Given the description of an element on the screen output the (x, y) to click on. 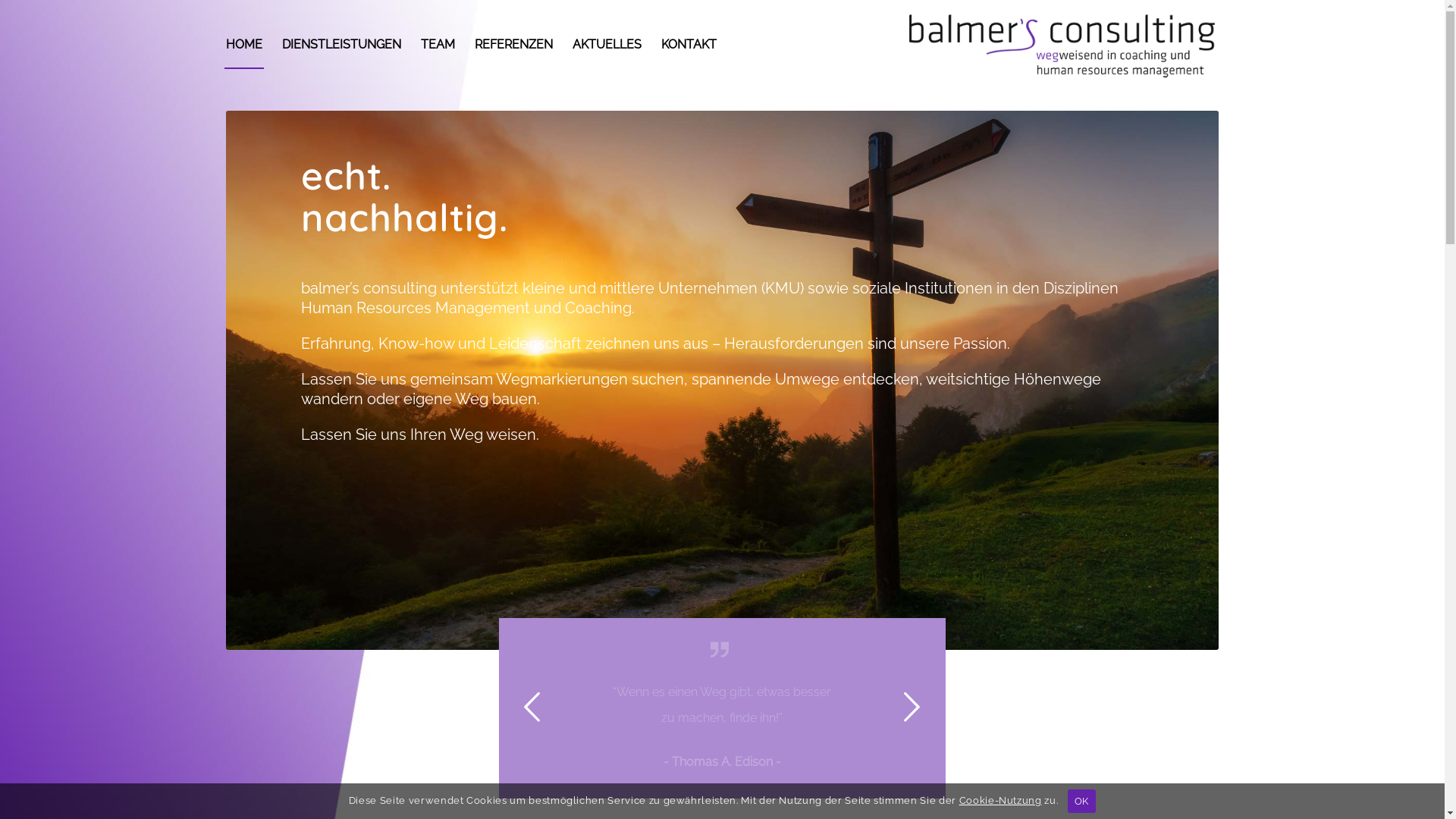
Weiter Element type: text (911, 706)
REFERENZEN Element type: text (513, 44)
Cookie-Nutzung Element type: text (1000, 800)
AKTUELLES Element type: text (606, 44)
KONTAKT Element type: text (688, 44)
TEAM Element type: text (437, 44)
OK Element type: text (1081, 800)
HOME Element type: text (244, 44)
DIENSTLEISTUNGEN Element type: text (341, 44)
